Given the description of an element on the screen output the (x, y) to click on. 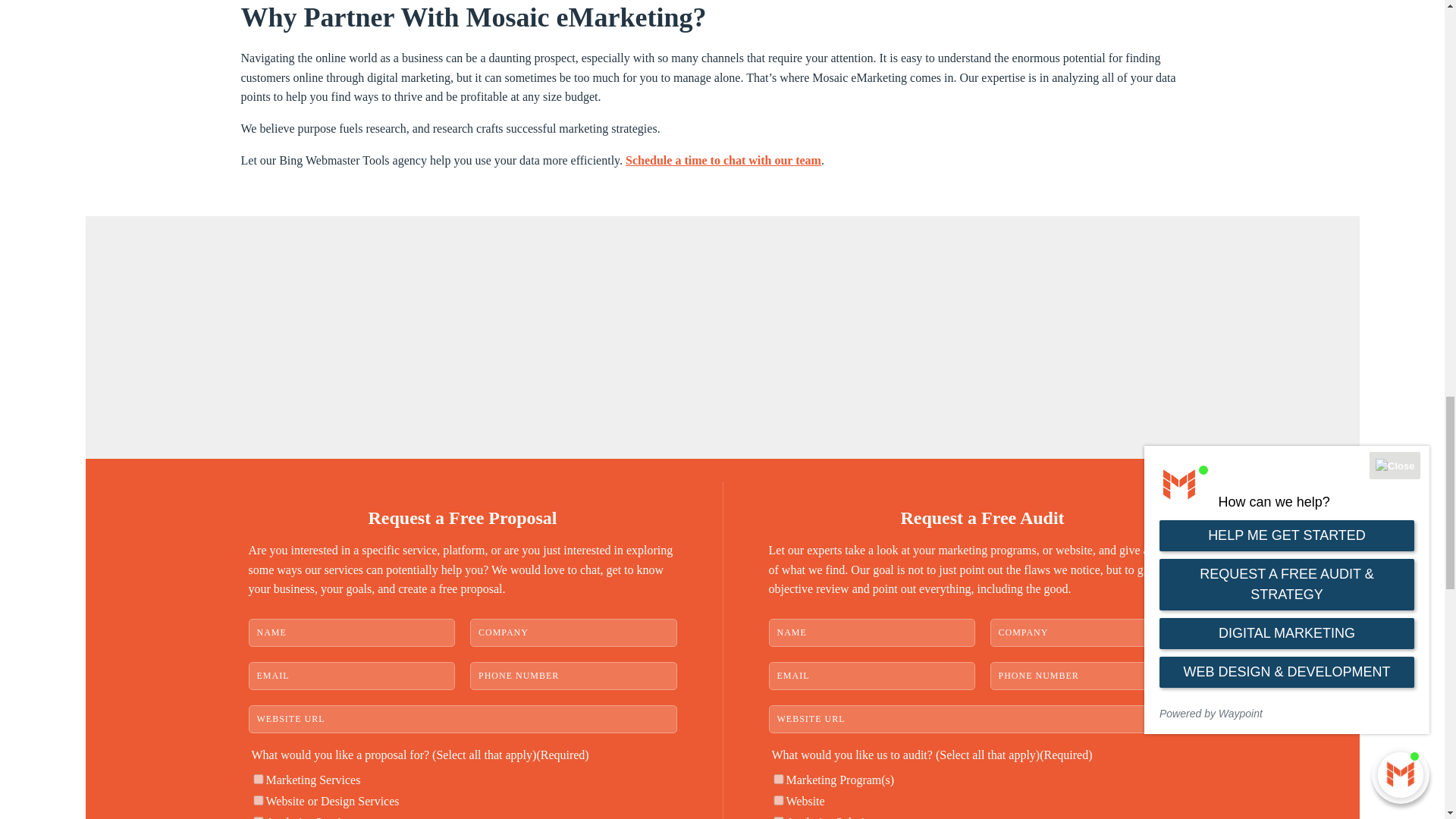
Website (778, 800)
Website or Design Services (258, 800)
Marketing Services (258, 778)
